Given the description of an element on the screen output the (x, y) to click on. 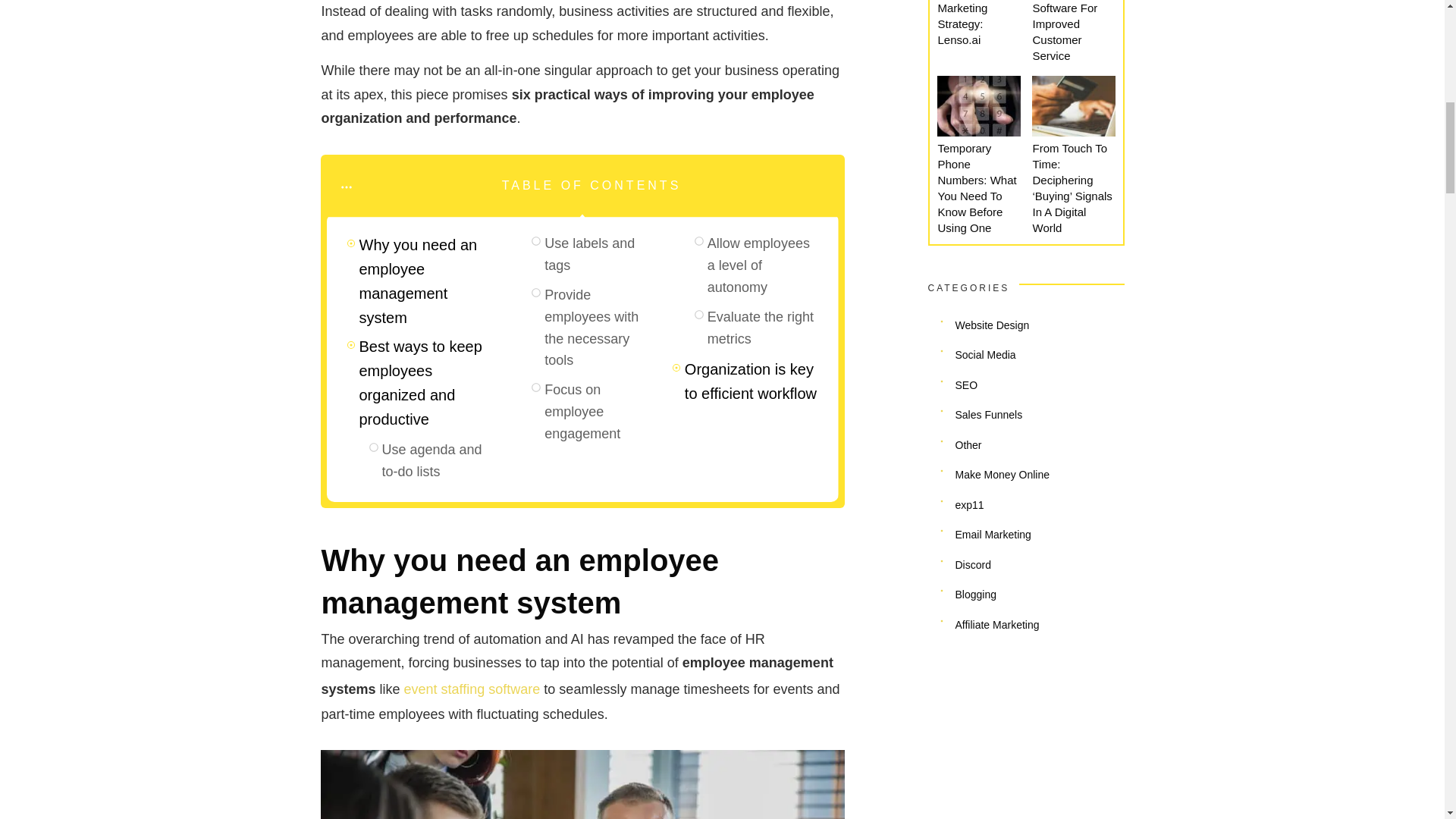
Focus on employee engagement (600, 411)
Evaluate the right metrics  (762, 328)
Why you need an employee management system (426, 281)
Allow employees a level of autonomy (762, 265)
Use labels and tags (600, 254)
Organization is key to efficient workflow (751, 381)
Use agenda and to-do lists (437, 460)
Organization is key to efficient workflow (751, 381)
